Given the description of an element on the screen output the (x, y) to click on. 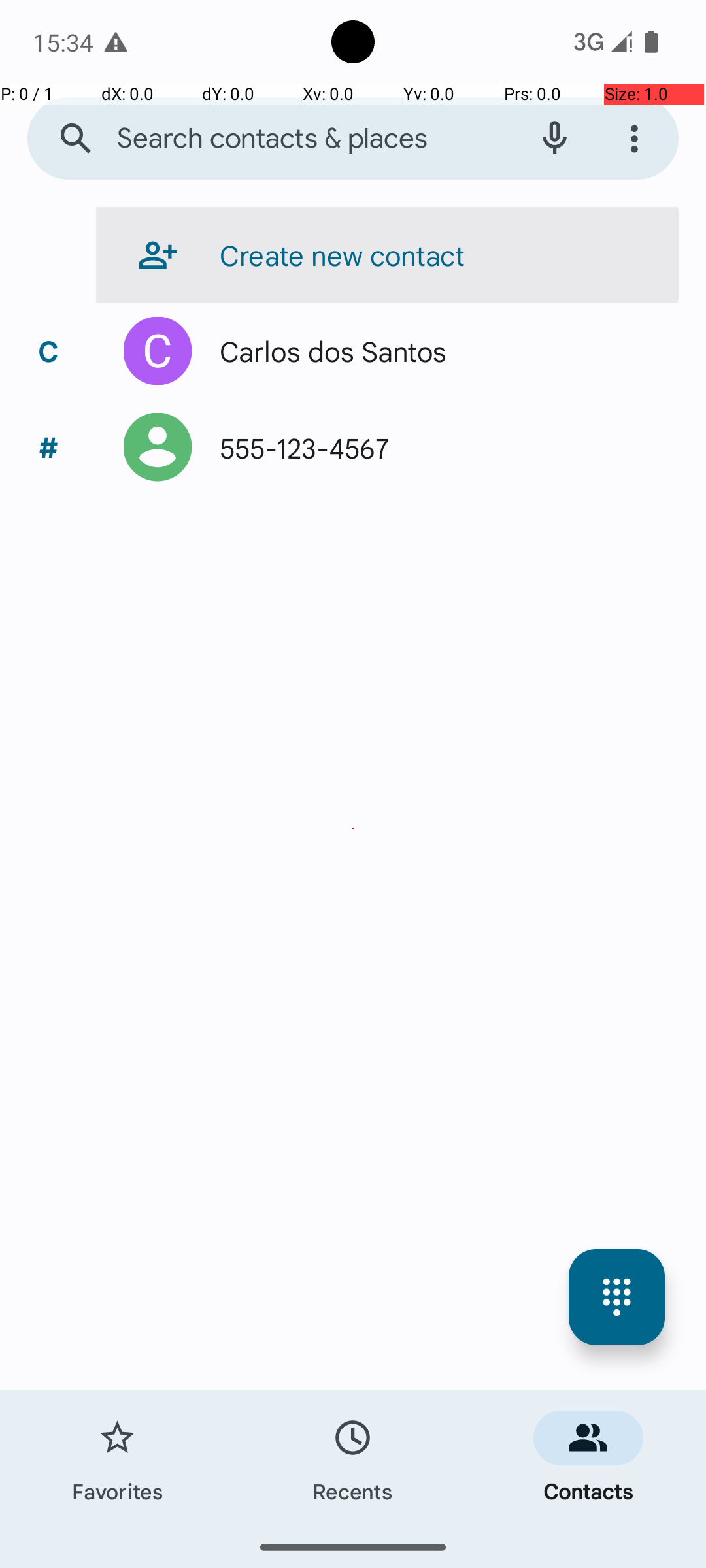
key pad Element type: android.widget.ImageButton (616, 1297)
Recents Element type: android.widget.FrameLayout (352, 1457)
Create new contact Element type: android.widget.TextView (335, 254)
Quick contact for Carlos dos Santos Element type: android.widget.QuickContactBadge (157, 350)
Carlos dos Santos Element type: android.widget.TextView (326, 350)
Quick contact for 555-123-4567 Element type: android.widget.QuickContactBadge (157, 446)
‪555-123-4567‬ Element type: android.widget.TextView (297, 446)
